Given the description of an element on the screen output the (x, y) to click on. 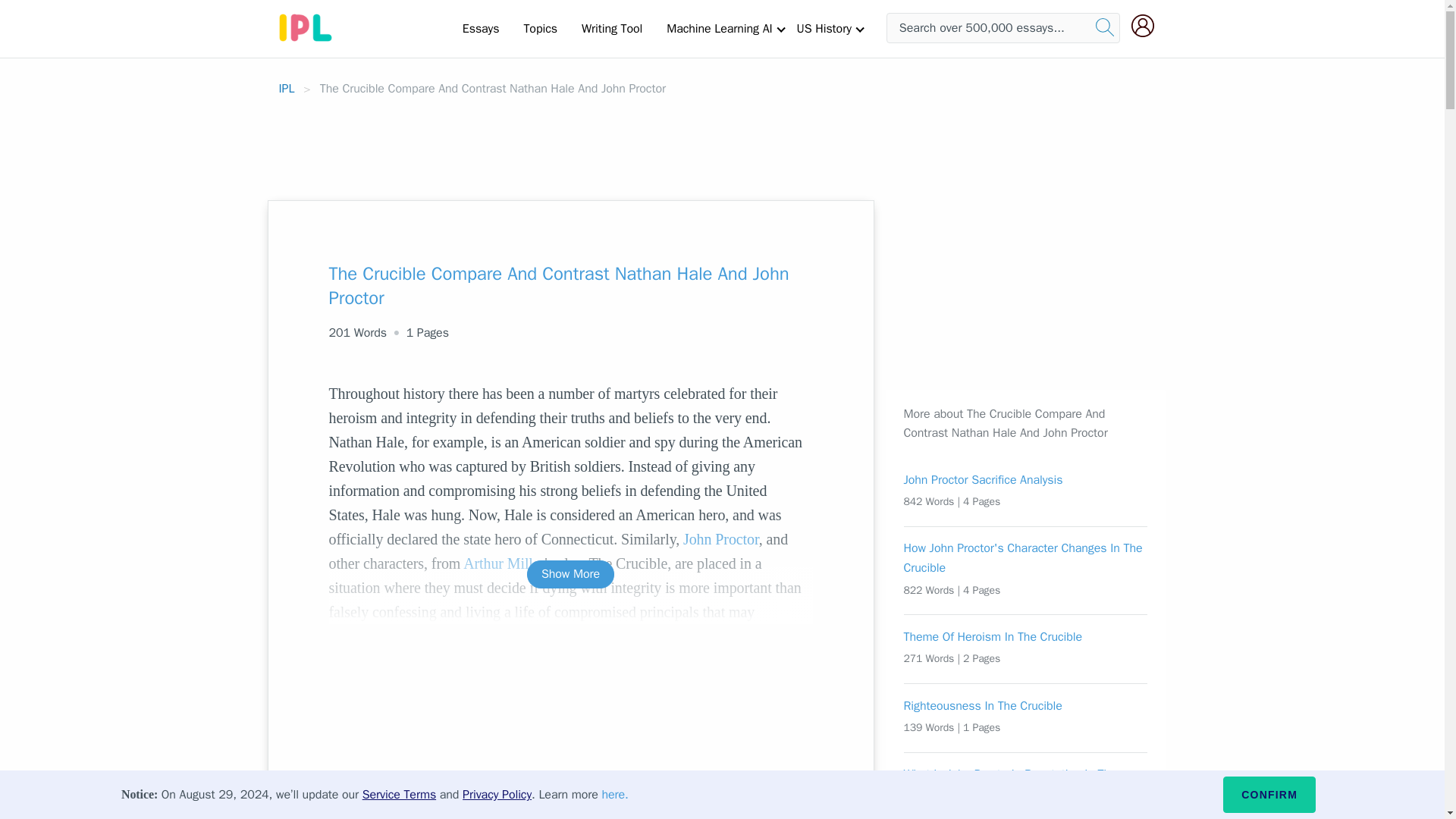
Show More (570, 574)
Essays (480, 28)
Arthur Miller (503, 563)
John Proctor (720, 538)
Writing Tool (611, 28)
Machine Learning AI (718, 28)
Topics (540, 28)
US History (823, 28)
IPL (287, 88)
